Given the description of an element on the screen output the (x, y) to click on. 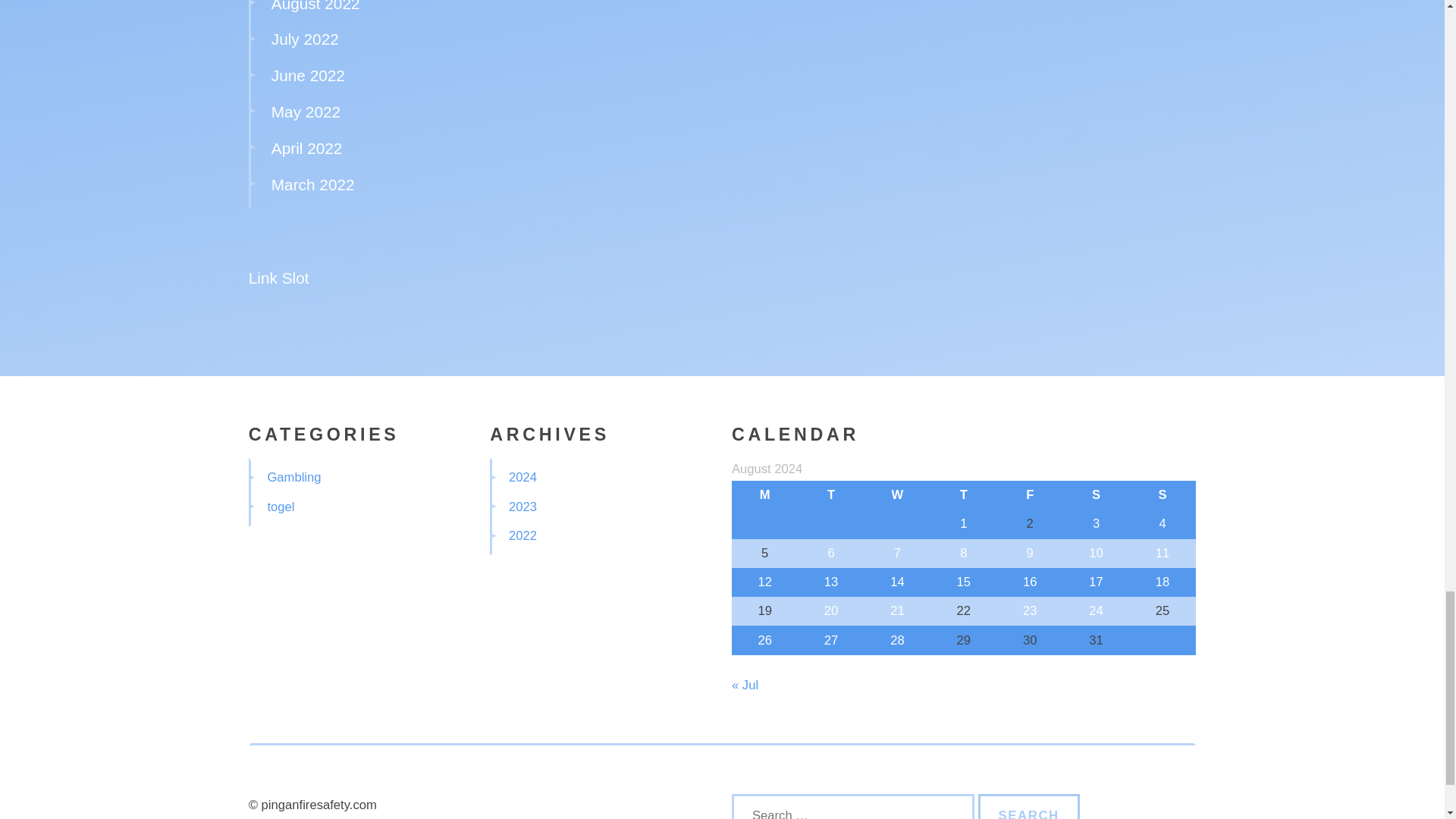
Friday (1029, 494)
Tuesday (830, 494)
Search (1029, 806)
Monday (764, 494)
Sunday (1162, 494)
August 2022 (314, 6)
Thursday (962, 494)
May 2022 (305, 111)
July 2022 (304, 38)
Search (1029, 806)
